Given the description of an element on the screen output the (x, y) to click on. 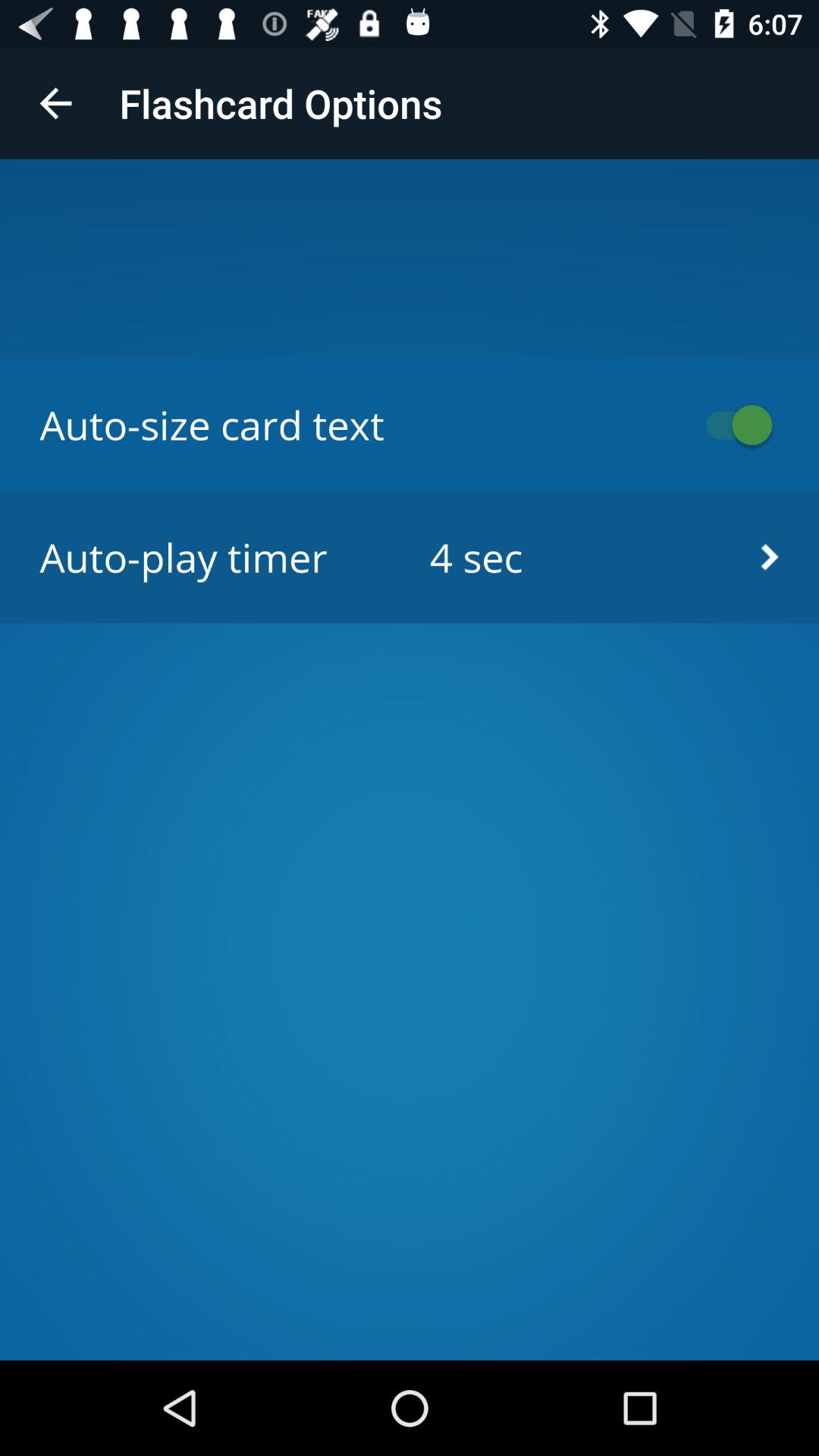
tap the icon next to flashcard options (55, 103)
